Given the description of an element on the screen output the (x, y) to click on. 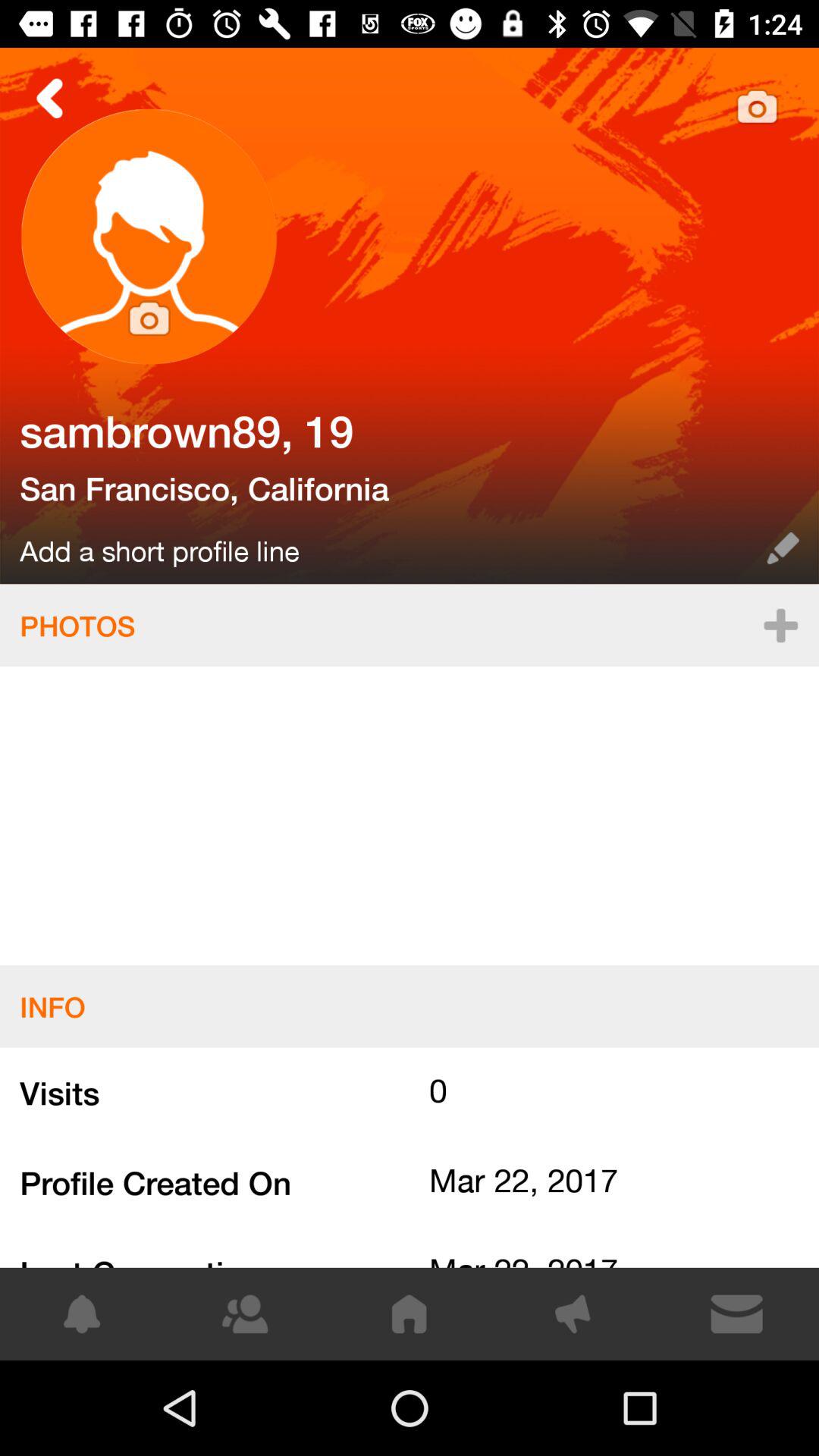
choose icon next to photos (780, 625)
